Given the description of an element on the screen output the (x, y) to click on. 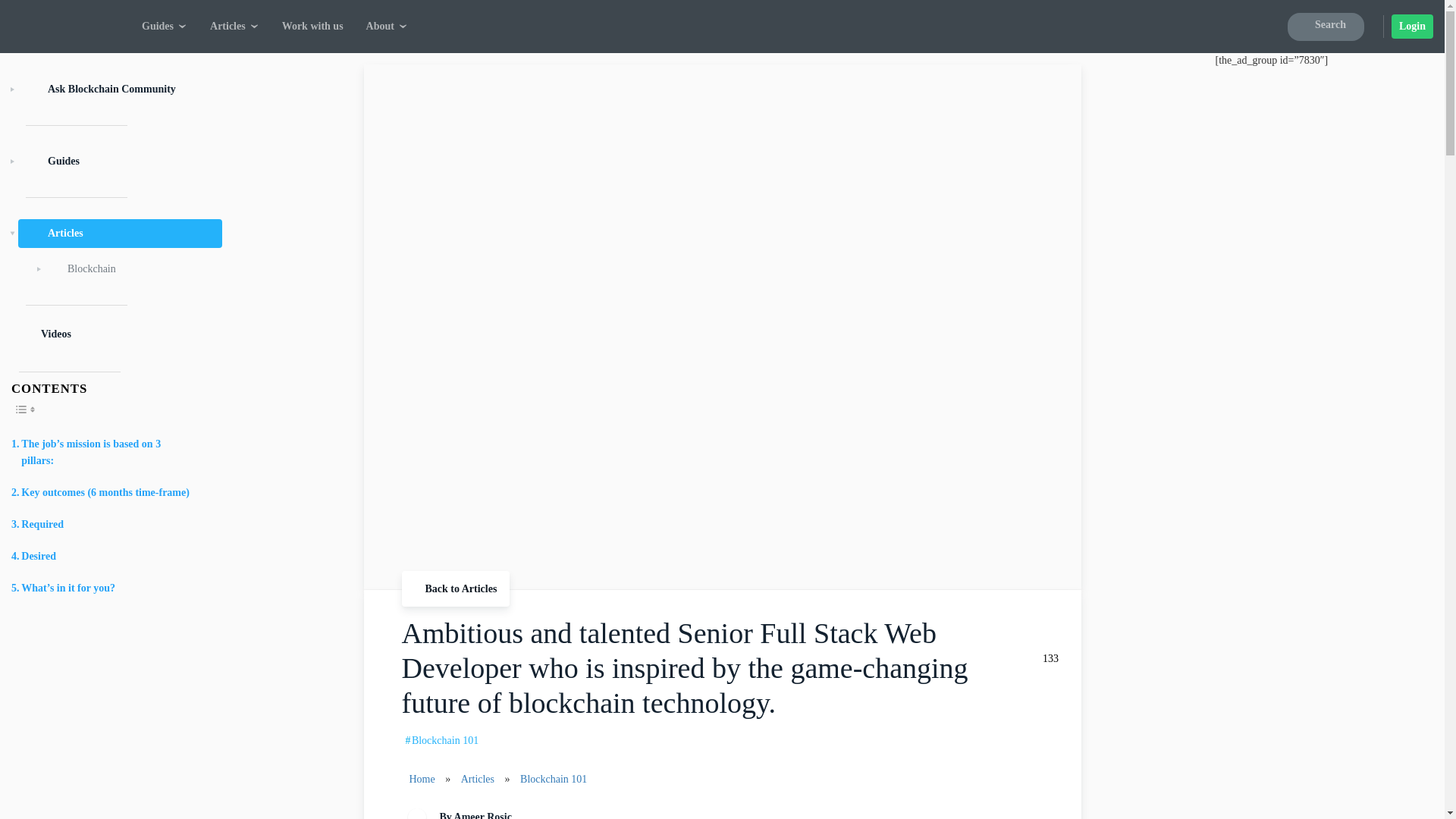
Desired (33, 556)
Required (37, 524)
Go back to articles (456, 588)
